Given the description of an element on the screen output the (x, y) to click on. 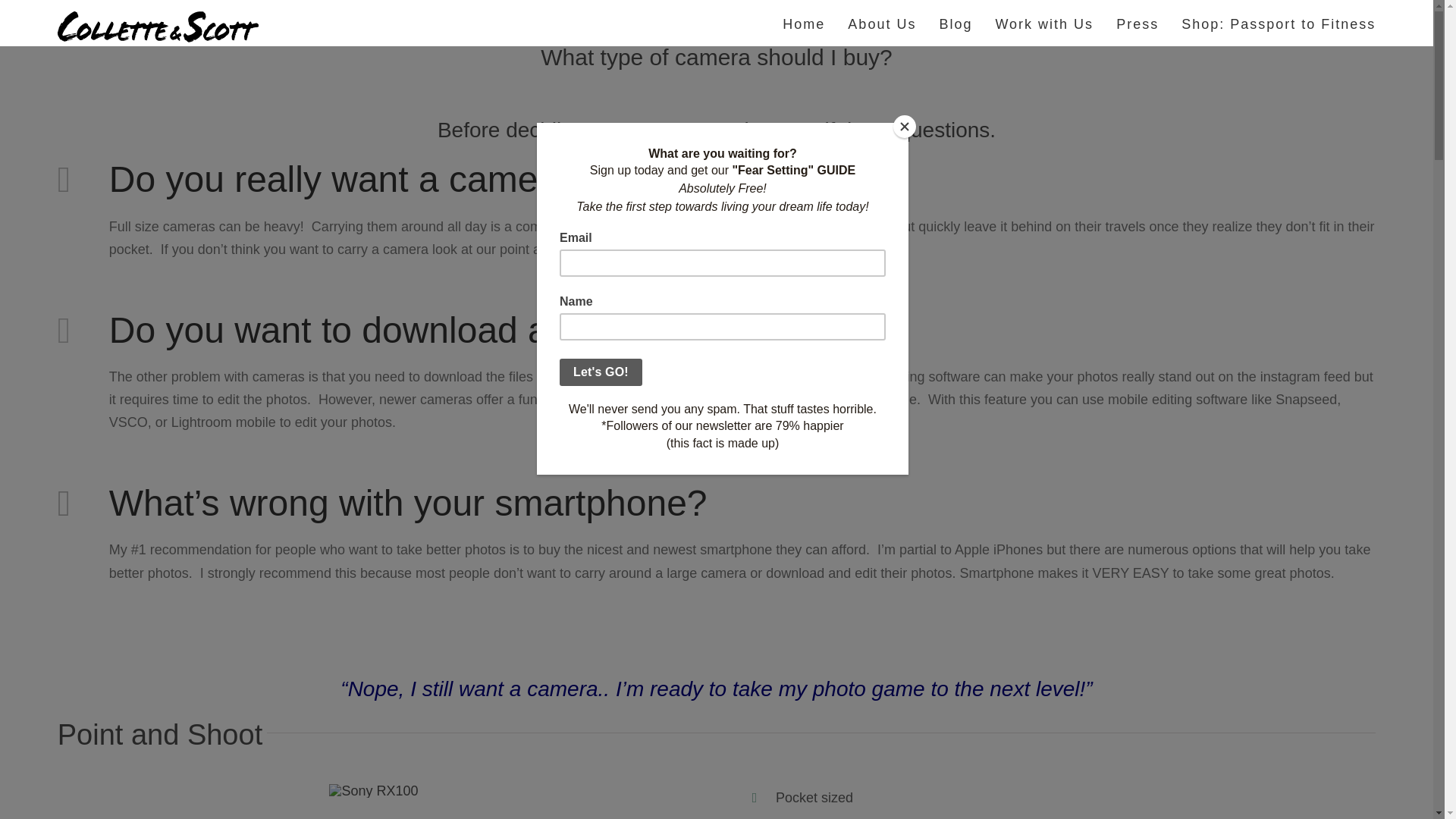
About Us (881, 22)
Shop: Passport to Fitness (1277, 22)
Press (1137, 22)
Work with Us (1043, 22)
Home (804, 22)
